Given the description of an element on the screen output the (x, y) to click on. 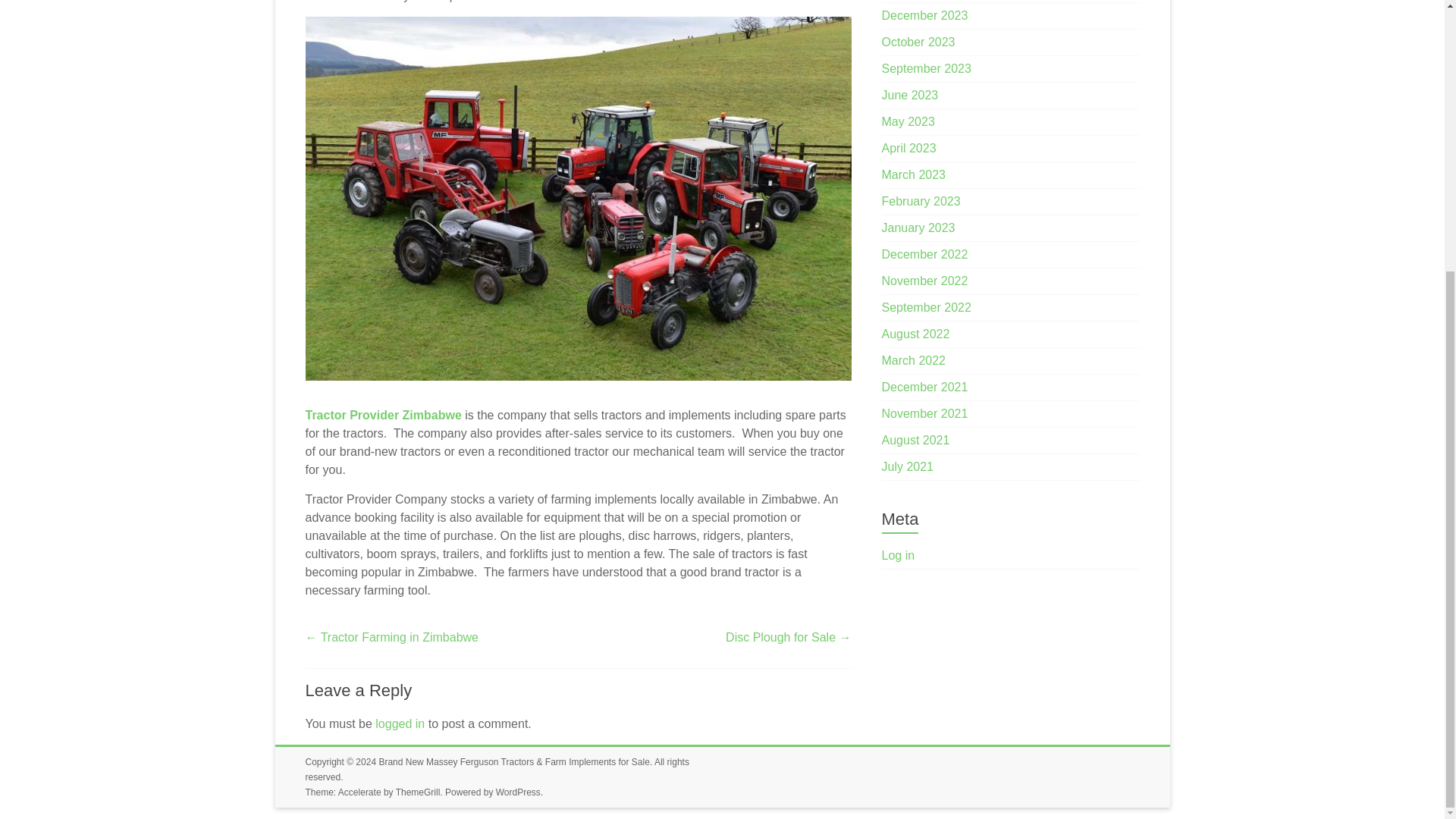
logged in (400, 723)
September 2023 (926, 68)
February 2023 (921, 201)
May 2023 (908, 121)
January 2023 (918, 227)
Accelerate (359, 792)
March 2023 (914, 174)
June 2023 (910, 94)
Tractor Provider Zimbabwe (382, 414)
WordPress (518, 792)
October 2023 (918, 42)
December 2023 (925, 15)
April 2023 (909, 147)
